Given the description of an element on the screen output the (x, y) to click on. 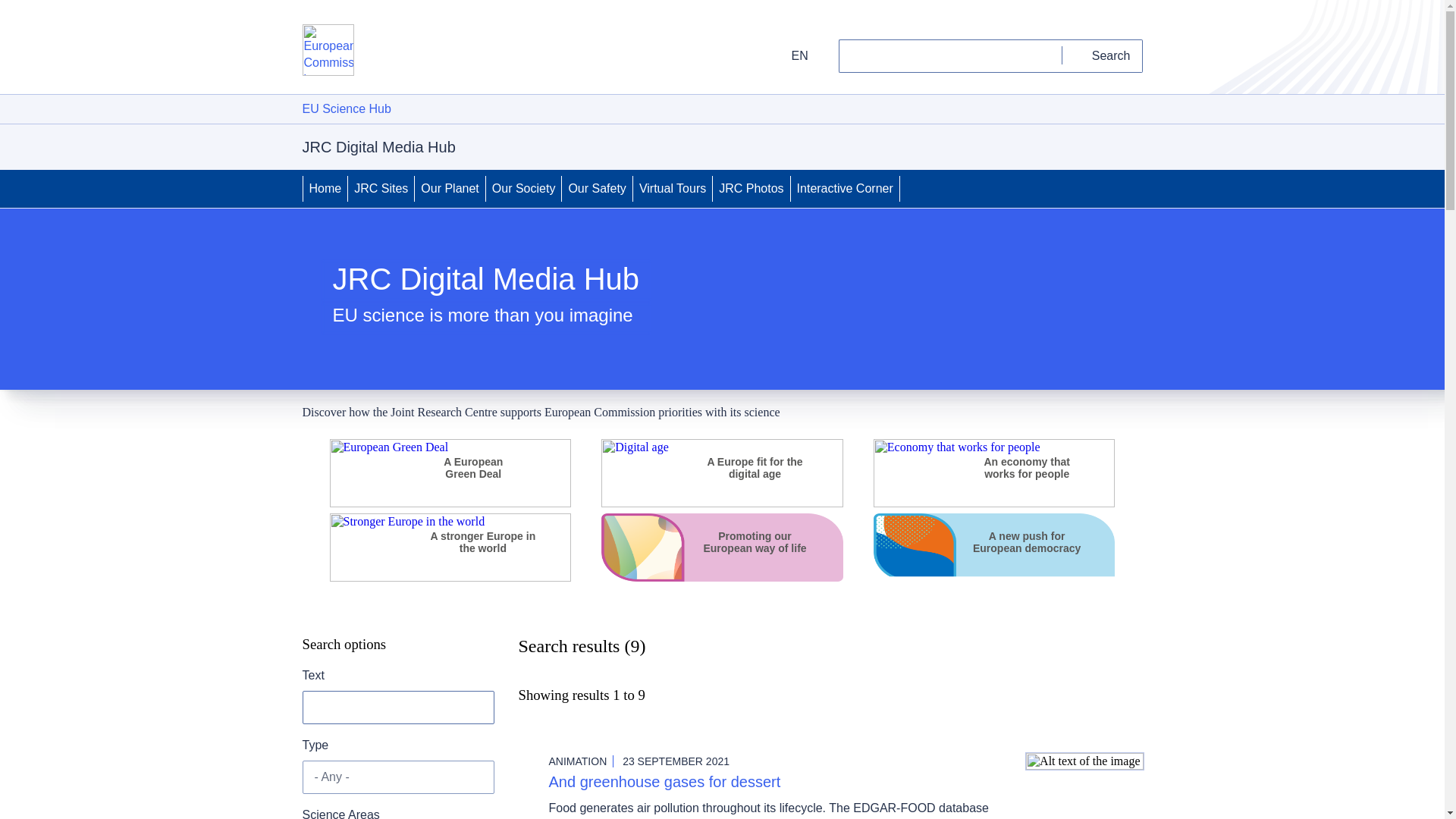
A new push for European democracy (994, 576)
Promoting our European way of life (754, 542)
Home (324, 188)
A European Green Deal (472, 467)
Promoting our European way of life (722, 576)
An economy that works for people (1026, 467)
A European Green Deal (449, 502)
A Europe fit for the digital age (754, 467)
EU Science Hub (345, 108)
And greenhouse gases for dessert (664, 781)
Virtual Tours (672, 188)
A stronger Europe in the world (449, 576)
Search (1102, 55)
Our Safety (596, 188)
Our Society (524, 188)
